Given the description of an element on the screen output the (x, y) to click on. 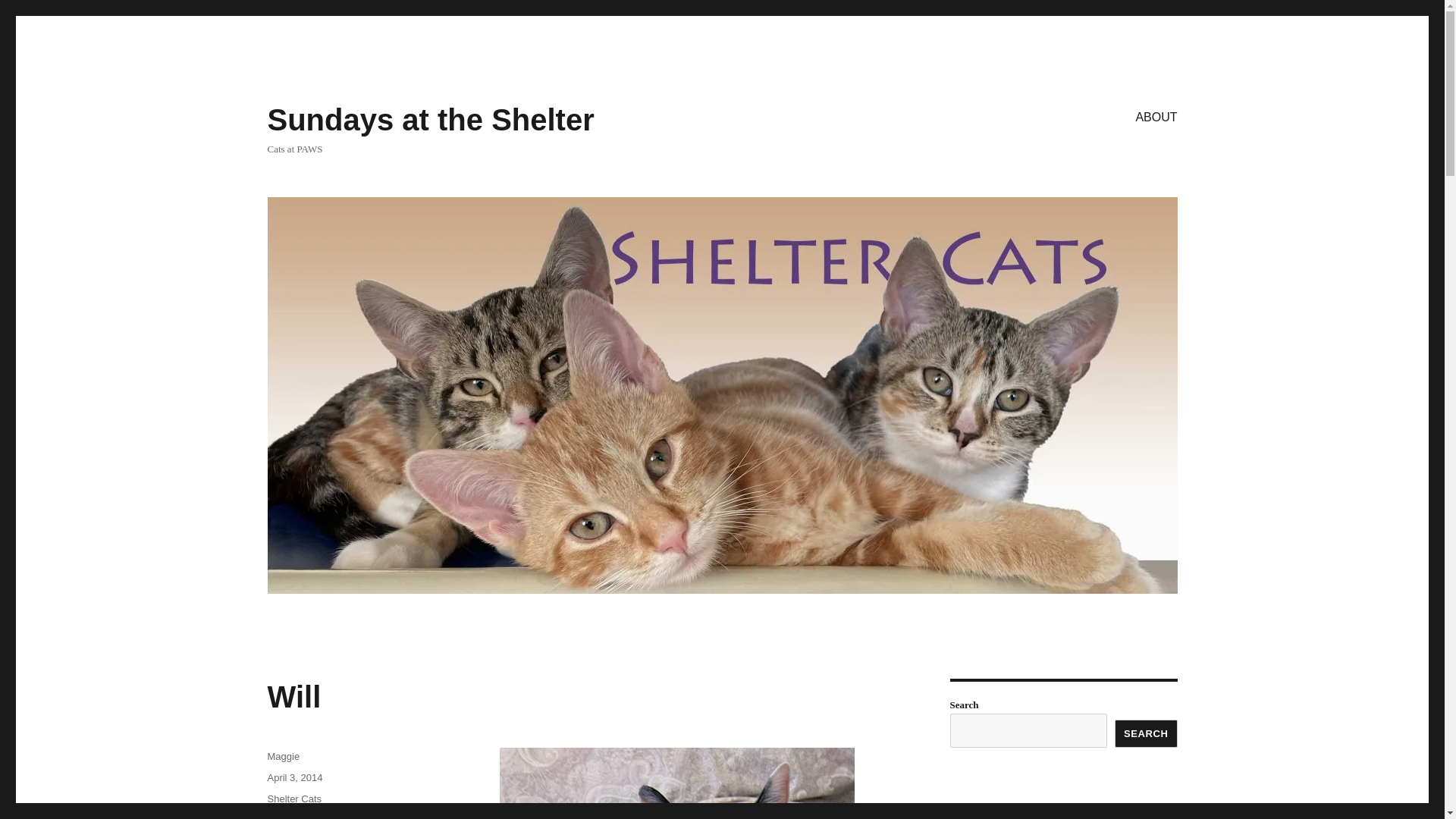
April 3, 2014 (293, 777)
Sundays at the Shelter (430, 119)
ABOUT (1156, 116)
PAWS animal shelter (325, 816)
Maggie (282, 756)
black and white cat (308, 816)
Shelter Cats (293, 798)
